Given the description of an element on the screen output the (x, y) to click on. 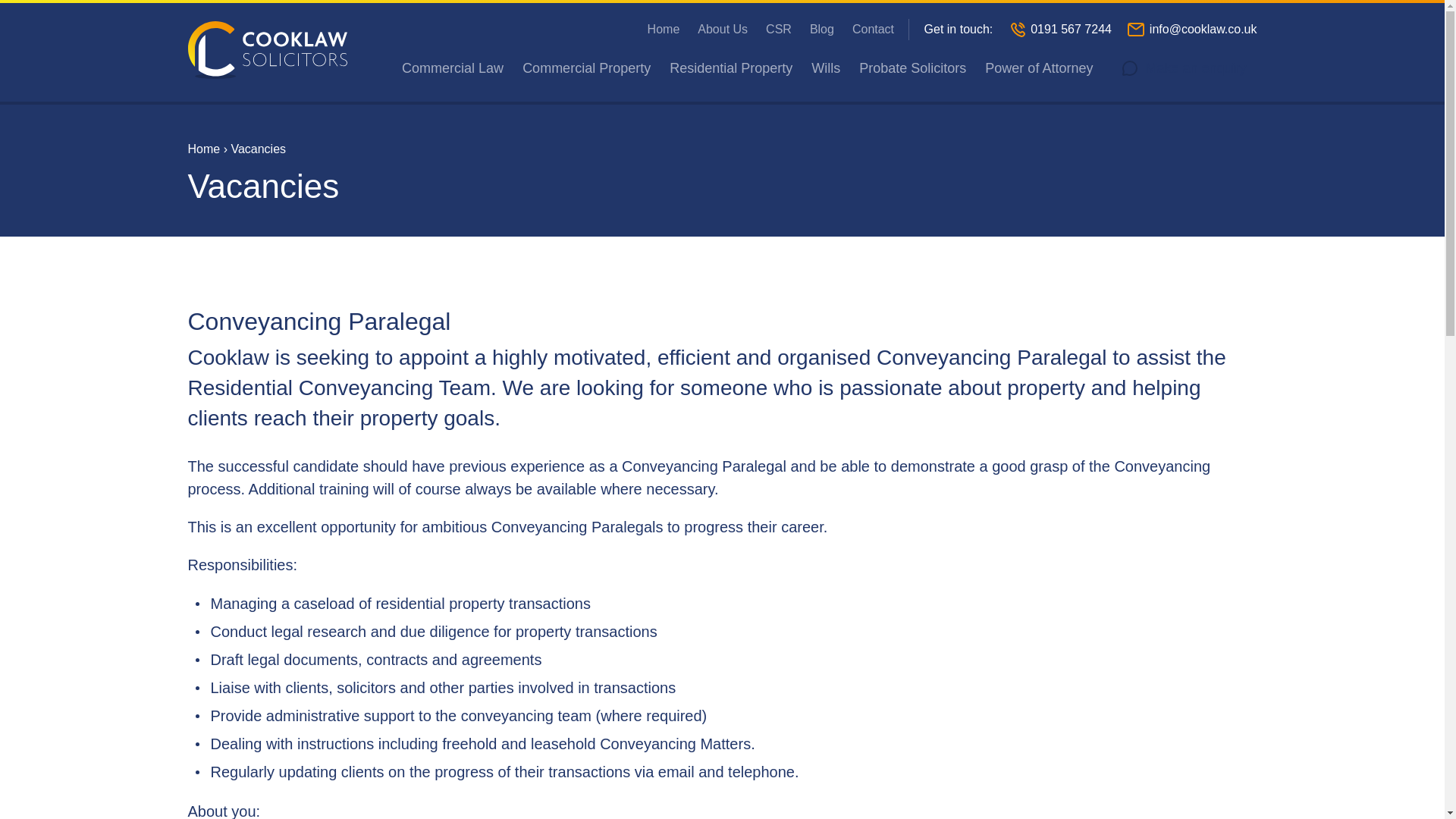
Power of Attorney (1039, 68)
Home (204, 148)
Wills (825, 68)
Commercial Property (586, 68)
Residential Property (730, 68)
About Us (722, 29)
Probate Solicitors (912, 68)
Contact (872, 29)
0191 567 7244 (1071, 29)
Blog (821, 29)
